Given the description of an element on the screen output the (x, y) to click on. 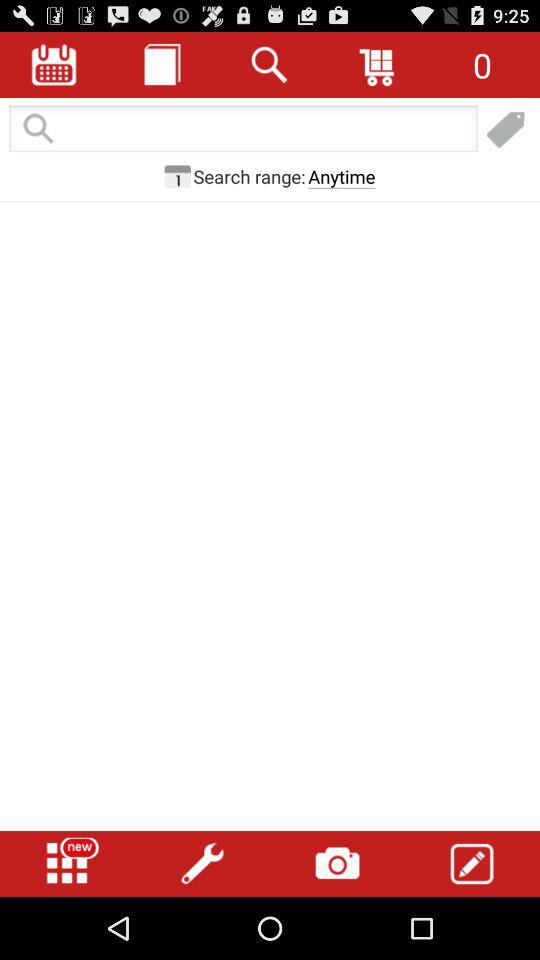
change search parameters (177, 175)
